Given the description of an element on the screen output the (x, y) to click on. 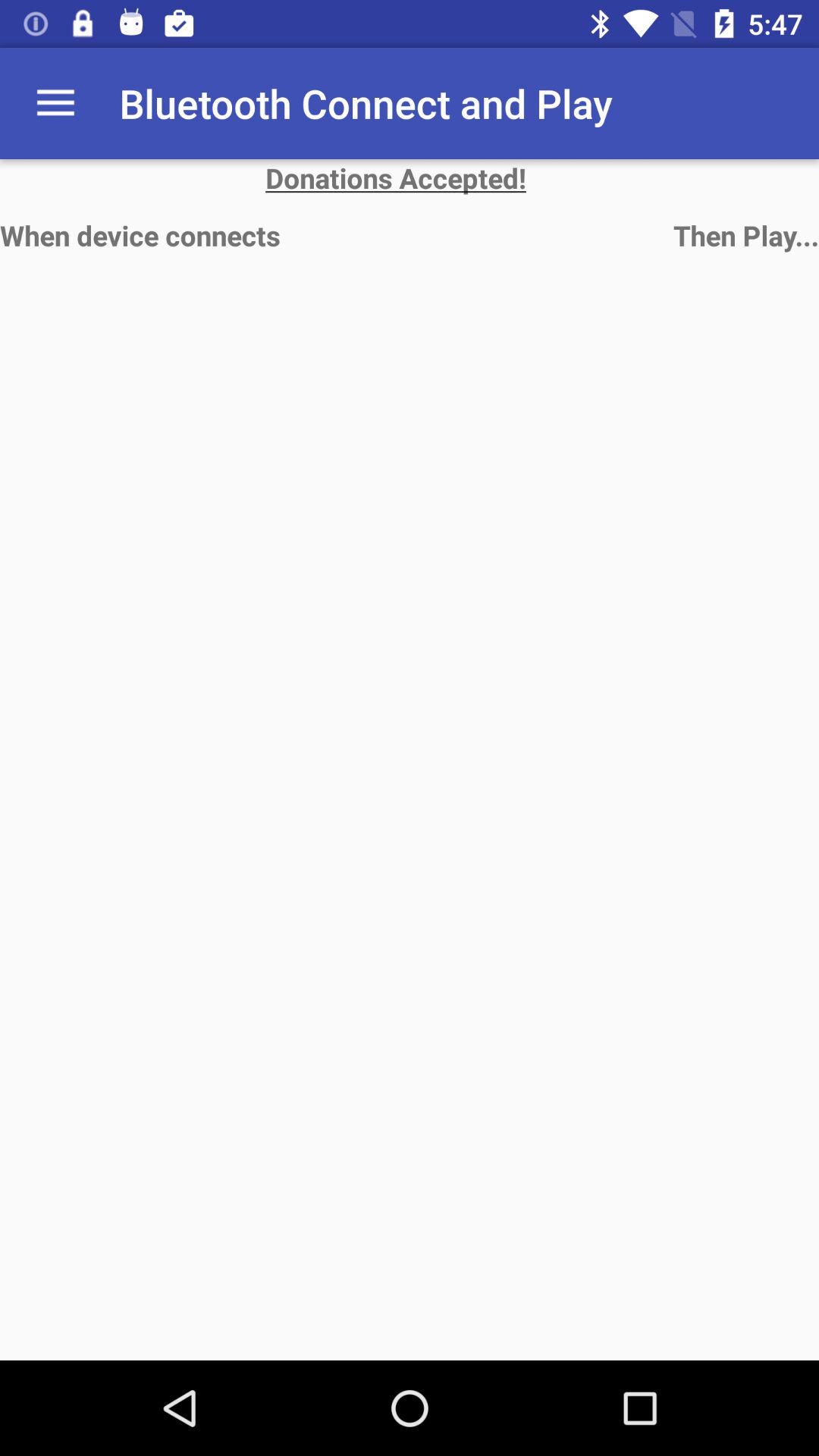
press icon above when device connects item (409, 177)
